Given the description of an element on the screen output the (x, y) to click on. 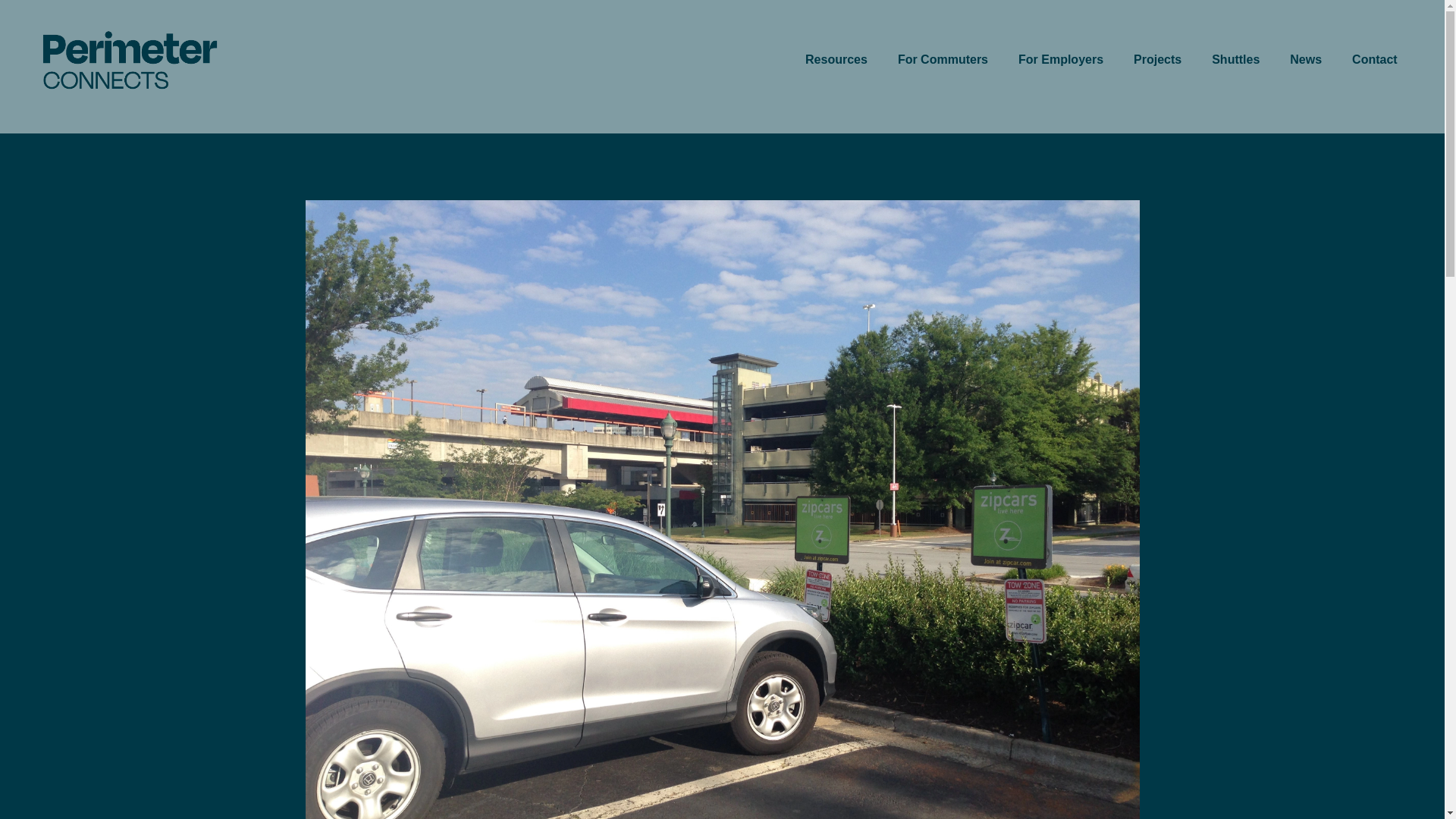
For Commuters (943, 59)
Projects (1157, 59)
Shuttles (1235, 59)
For Employers (1060, 59)
News (1306, 59)
Resources (836, 59)
Contact (1374, 59)
